Given the description of an element on the screen output the (x, y) to click on. 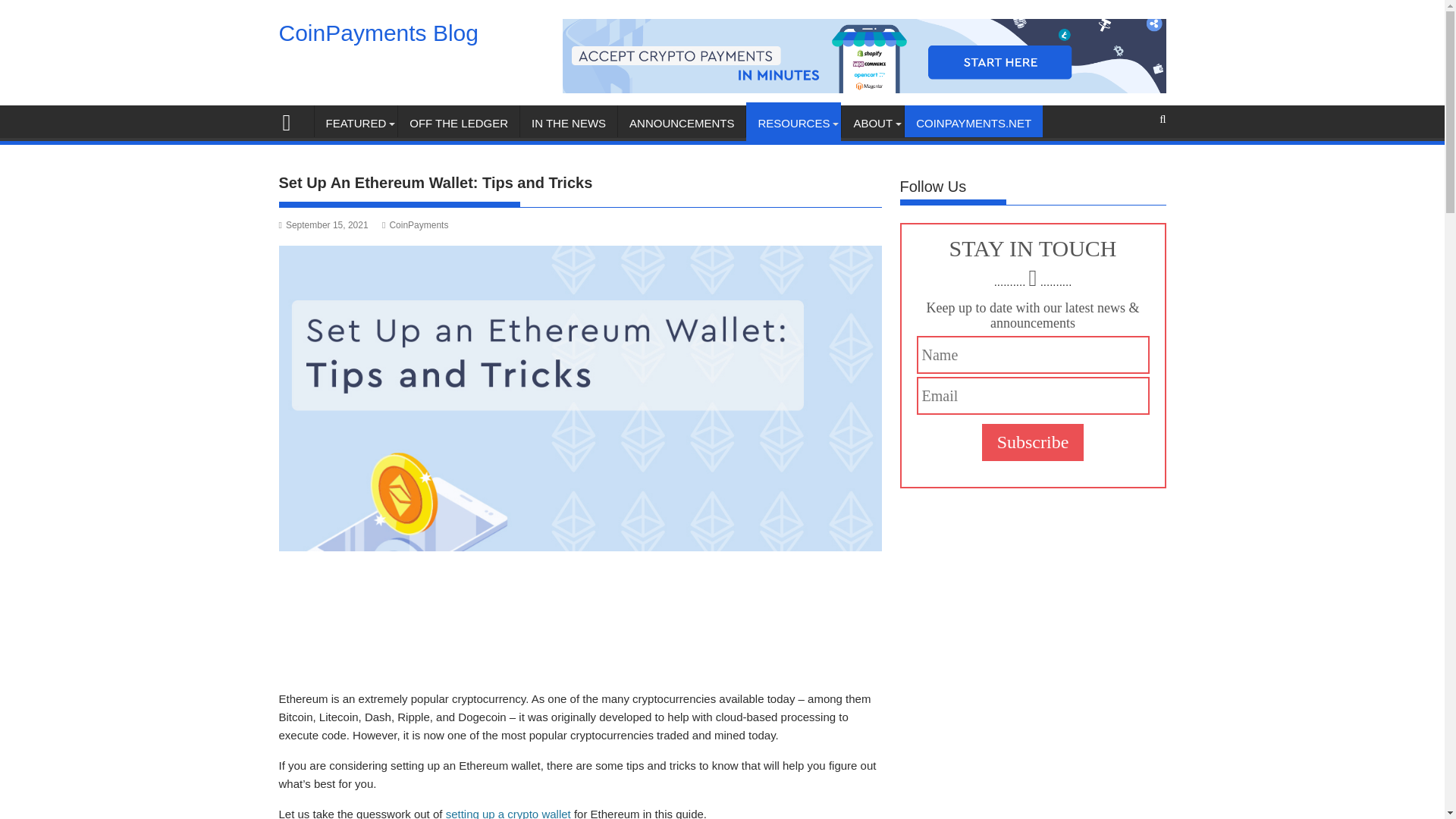
setting up a crypto wallet (507, 813)
ANNOUNCEMENTS (681, 123)
COINPAYMENTS.NET (973, 123)
CoinPayments Blog (293, 120)
ABOUT (872, 123)
CoinPayments (414, 225)
RESOURCES (793, 123)
OFF THE LEDGER (458, 123)
CoinPayments Blog (379, 32)
FEATURED (355, 123)
IN THE NEWS (568, 123)
September 15, 2021 (323, 225)
